Given the description of an element on the screen output the (x, y) to click on. 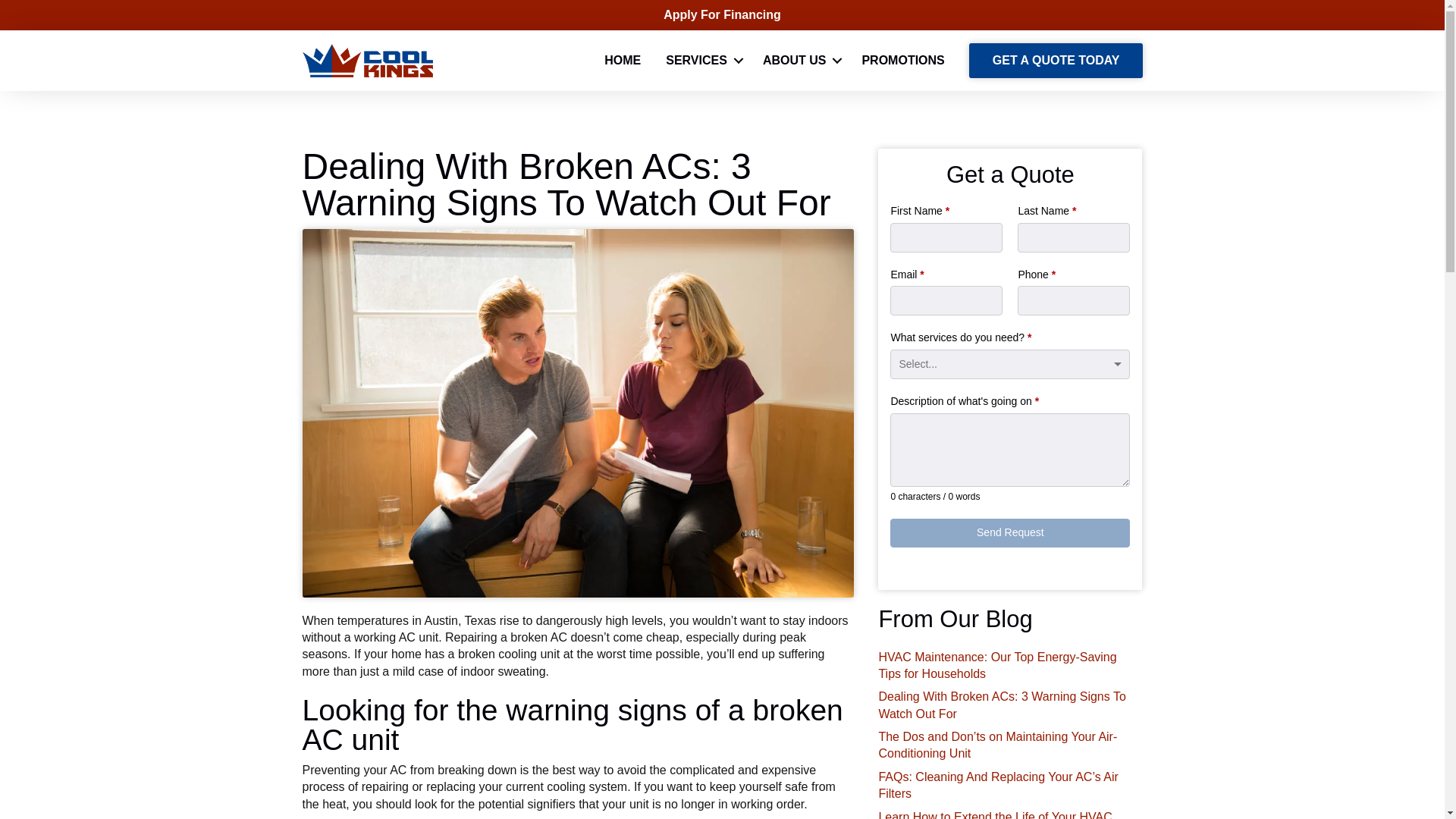
Send Request (1009, 532)
HOME (622, 60)
Dealing With Broken ACs: 3 Warning Signs To Watch Out For (1001, 704)
HVAC Maintenance: Our Top Energy-Saving Tips for Households (996, 665)
Apply For Financing (721, 14)
PROMOTIONS (902, 60)
Cool Kings Logo (366, 60)
Learn How to Extend the Life of Your HVAC System (994, 814)
ABOUT US (799, 60)
SERVICES (701, 60)
GET A QUOTE TODAY (1055, 60)
